Given the description of an element on the screen output the (x, y) to click on. 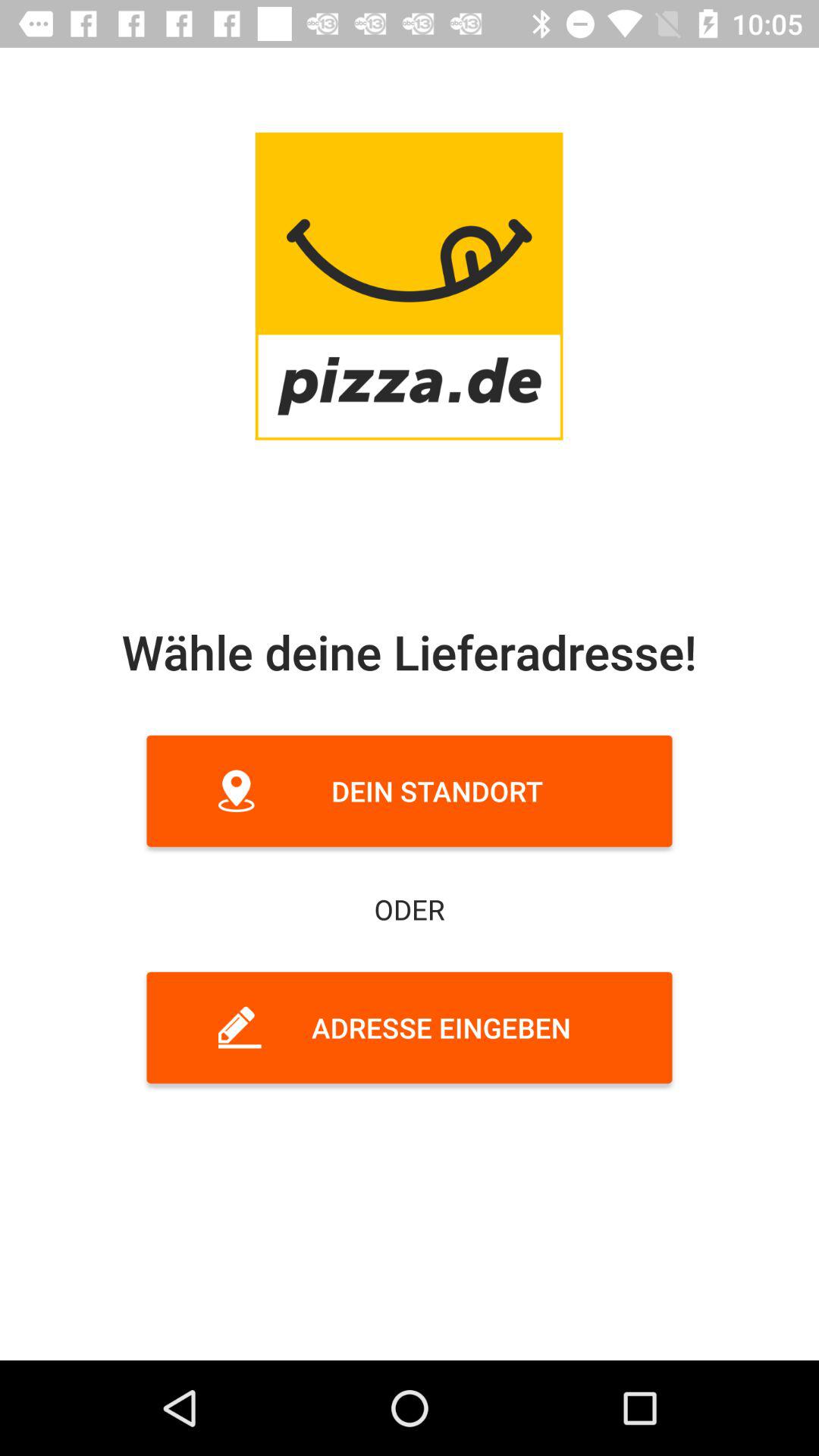
turn off the dein standort item (409, 790)
